Given the description of an element on the screen output the (x, y) to click on. 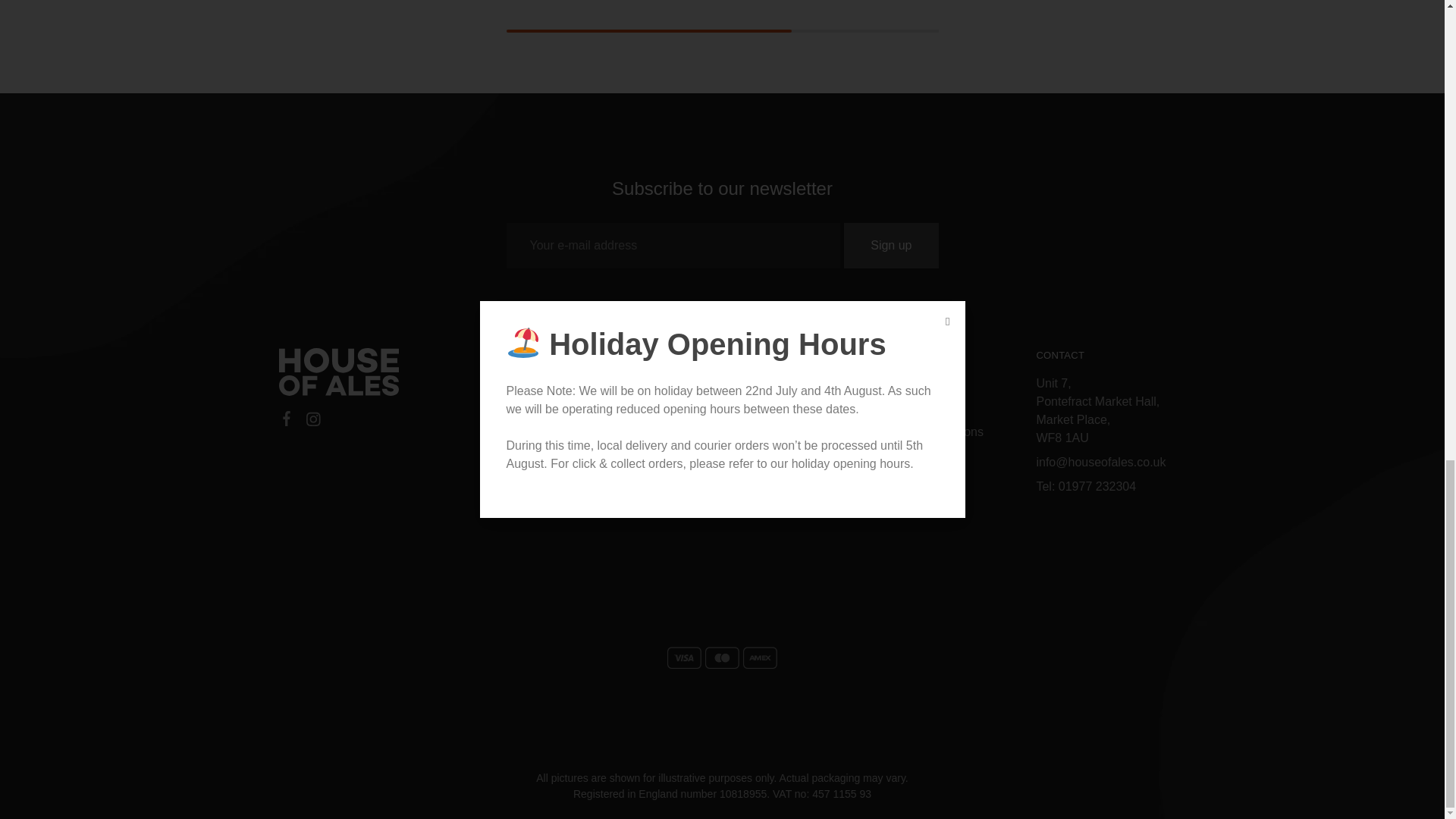
Facebook (286, 420)
Sign up (890, 245)
Instagram (312, 421)
